Given the description of an element on the screen output the (x, y) to click on. 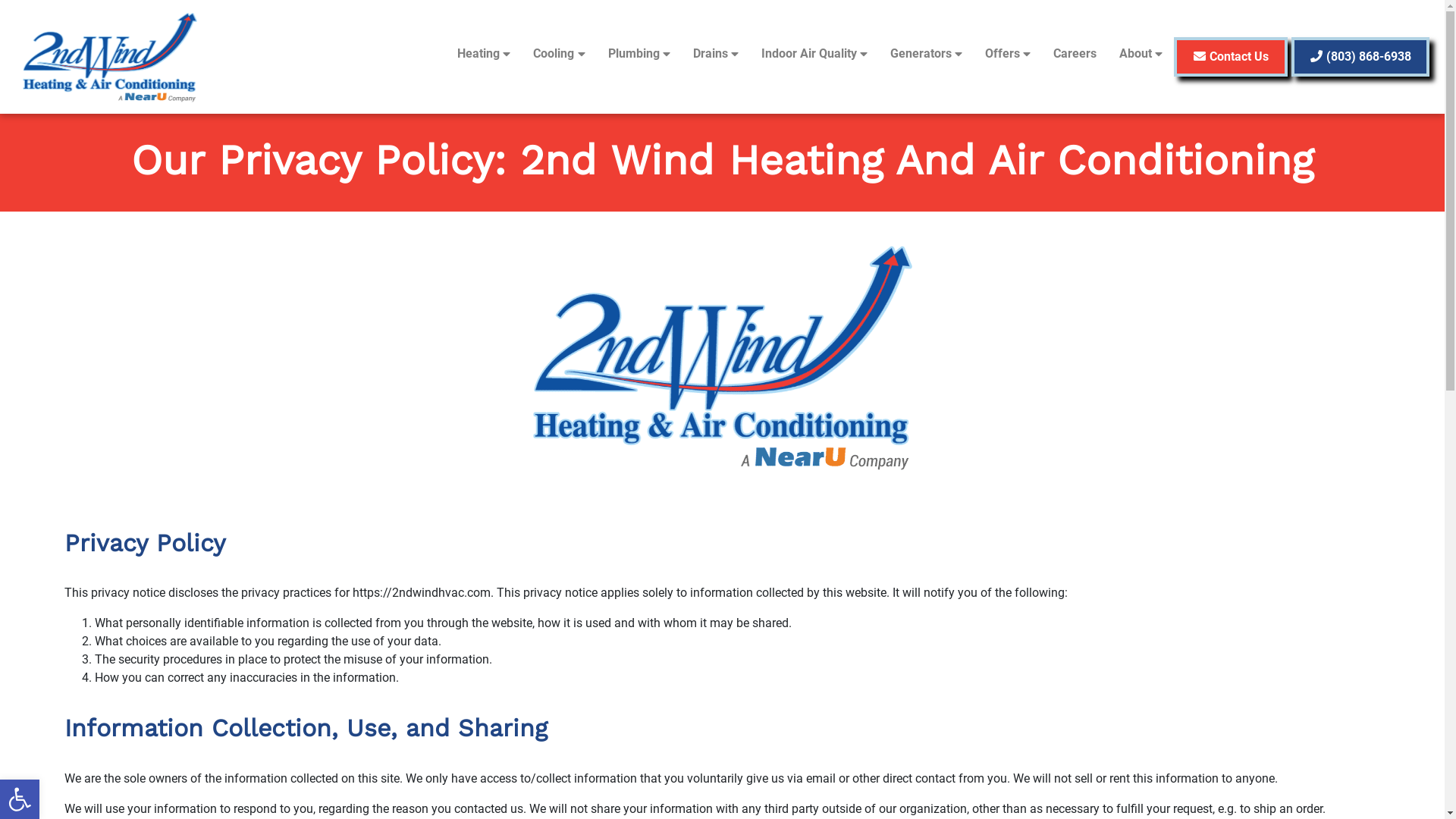
(803) 868-6938 Element type: text (1360, 56)
Generators Element type: text (925, 53)
Heating Element type: text (483, 53)
Offers Element type: text (1007, 53)
Indoor Air Quality Element type: text (813, 53)
cropped-logo-1-1.png Element type: hover (721, 356)
Cooling Element type: text (558, 53)
Careers Element type: text (1074, 53)
About Element type: text (1140, 53)
Drains Element type: text (715, 53)
Plumbing Element type: text (638, 53)
Contact Us Element type: text (1230, 56)
